Given the description of an element on the screen output the (x, y) to click on. 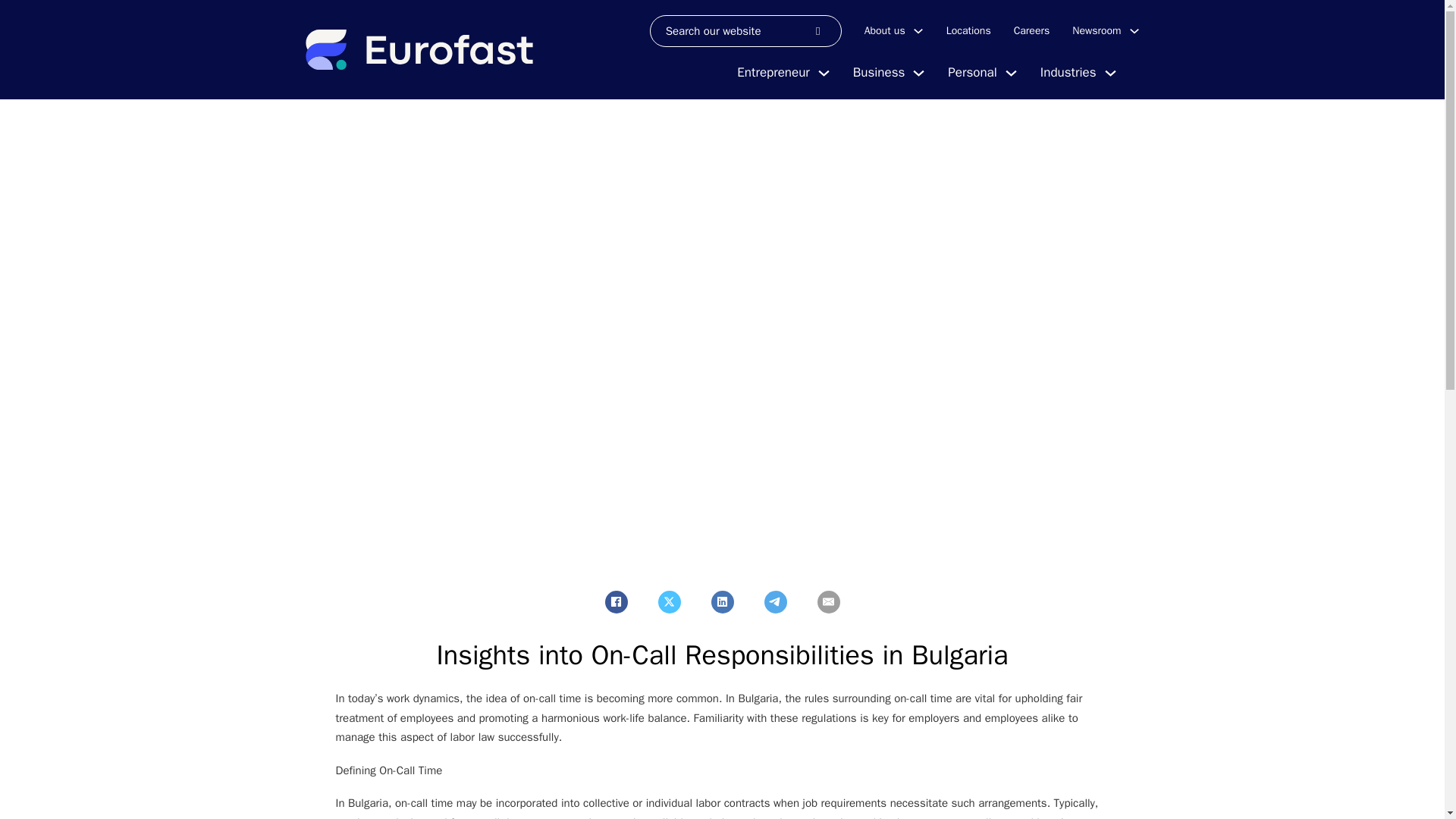
Careers (1031, 31)
Entrepreneur (772, 73)
Locations (968, 31)
Newsroom (1096, 31)
About us (884, 31)
